Given the description of an element on the screen output the (x, y) to click on. 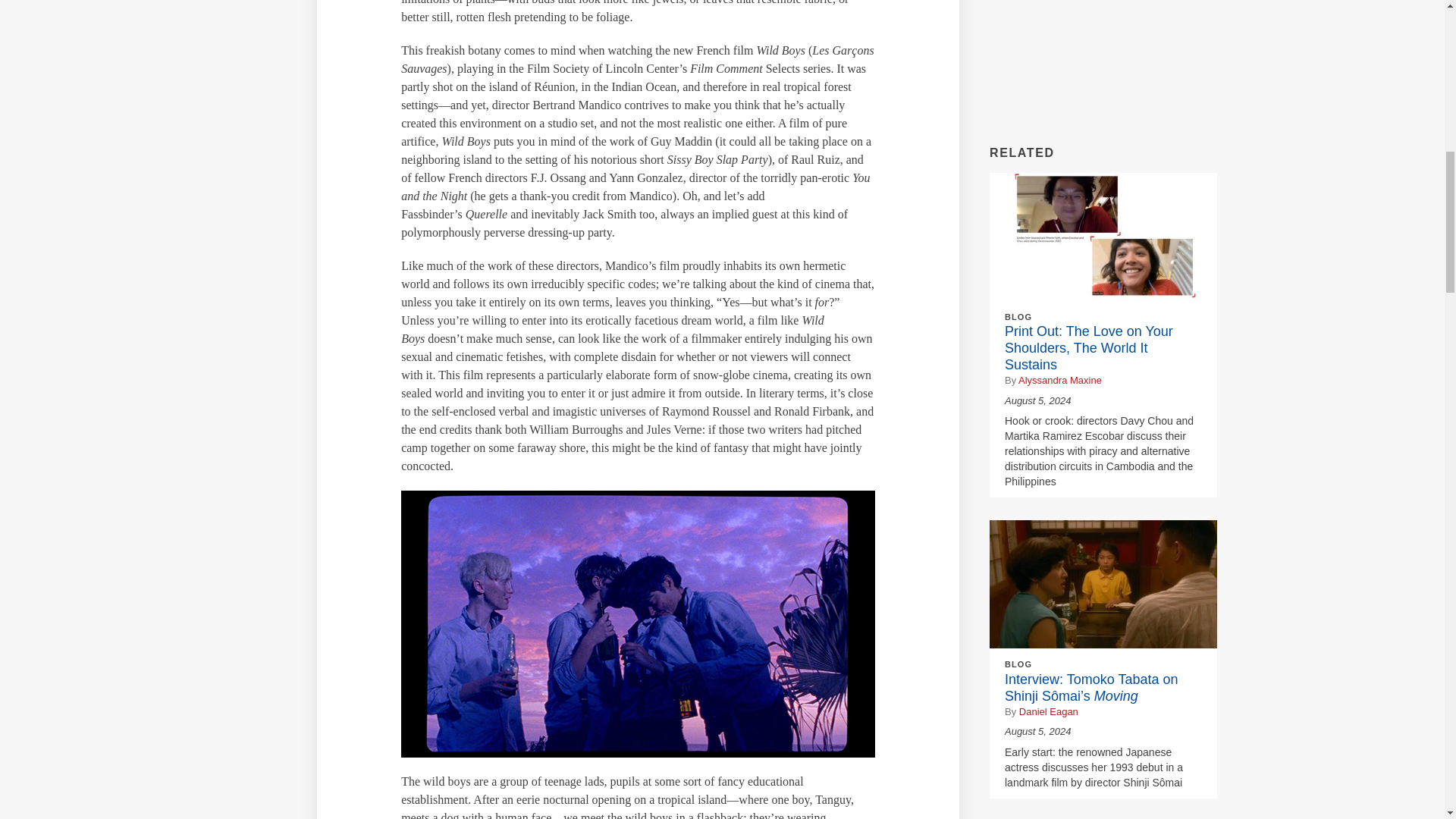
3rd party ad content (1103, 61)
